Given the description of an element on the screen output the (x, y) to click on. 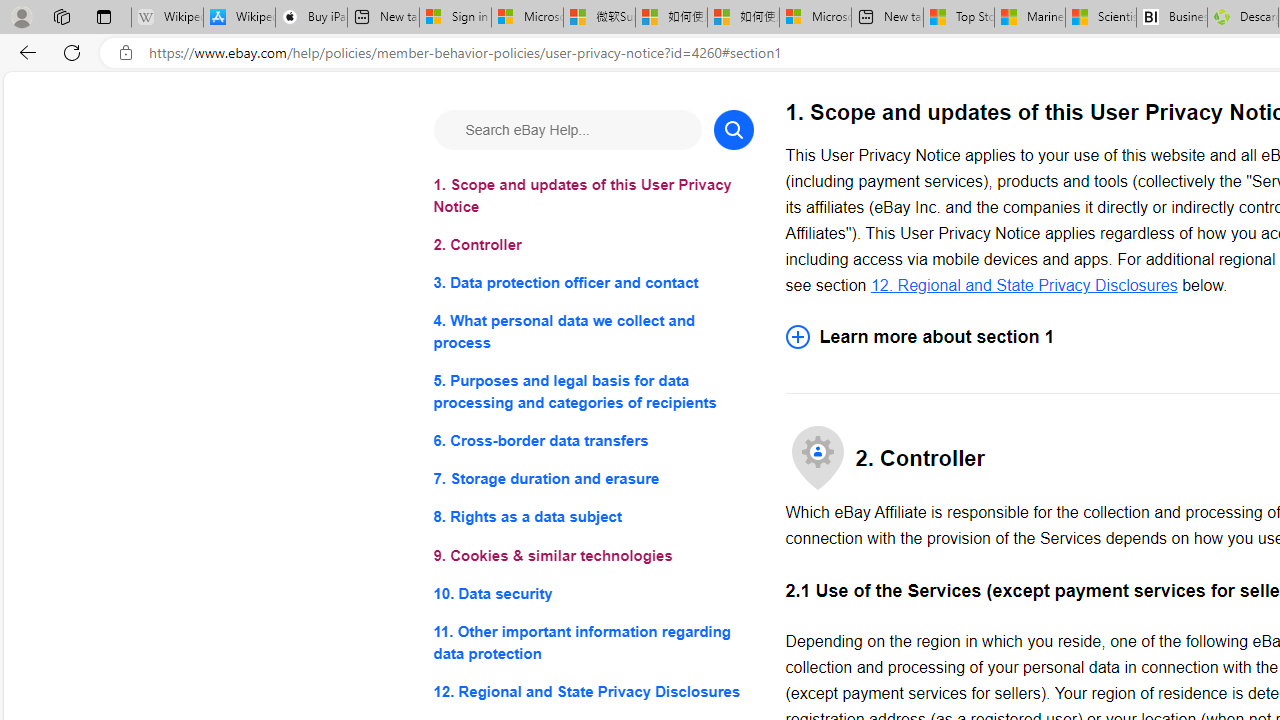
2. Controller (592, 245)
1. Scope and updates of this User Privacy Notice (592, 196)
Sign in to your Microsoft account (455, 17)
10. Data security (592, 592)
2. Controller (592, 245)
Microsoft Services Agreement (527, 17)
Top Stories - MSN (959, 17)
Marine life - MSN (1029, 17)
6. Cross-border data transfers (592, 440)
Buy iPad - Apple (311, 17)
4. What personal data we collect and process (592, 332)
